Given the description of an element on the screen output the (x, y) to click on. 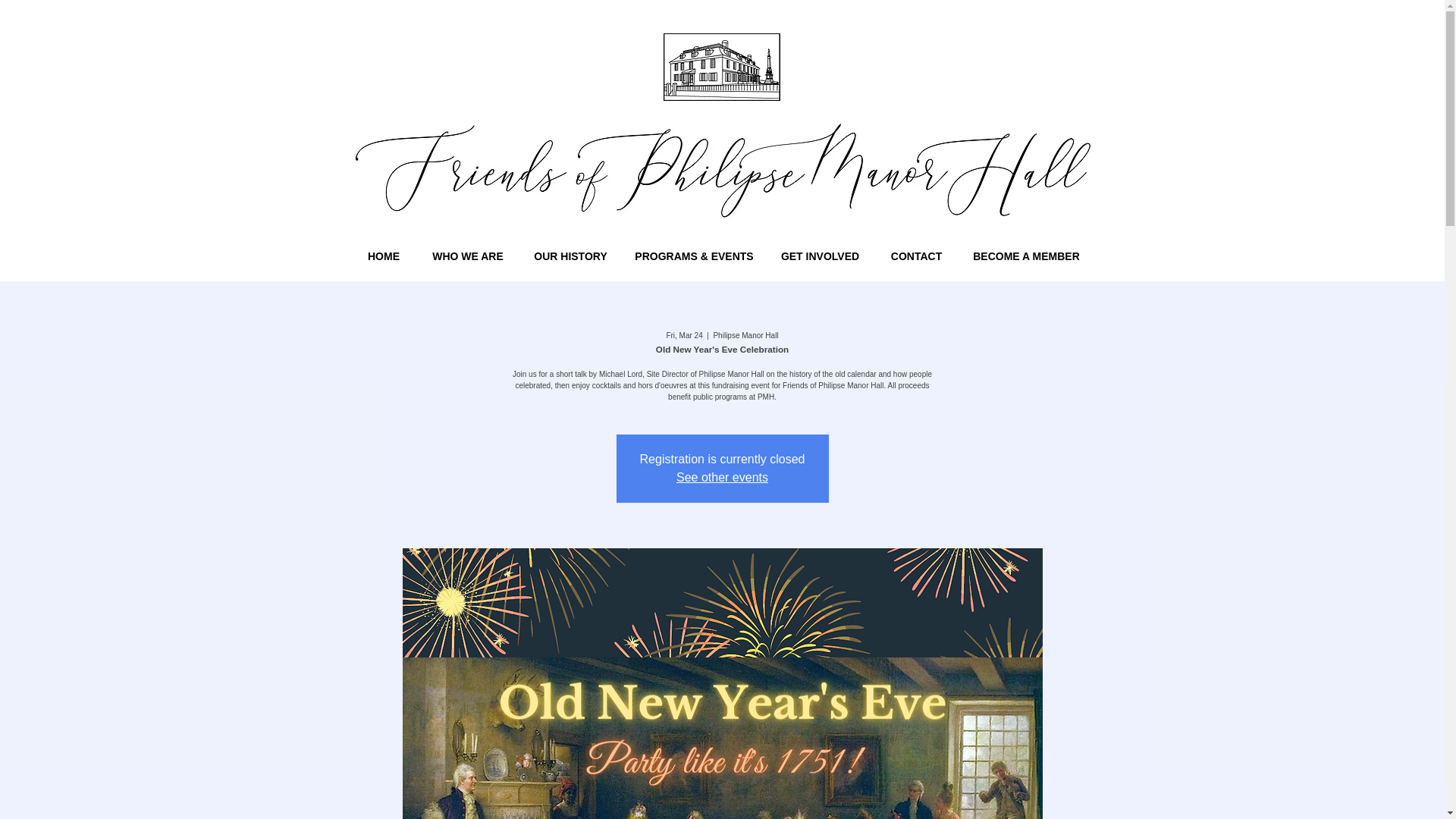
GET INVOLVED (819, 255)
CONTACT (915, 255)
HOME (383, 255)
See other events (722, 477)
WHO WE ARE (467, 255)
OUR HISTORY (569, 255)
BECOME A MEMBER (1025, 255)
